Given the description of an element on the screen output the (x, y) to click on. 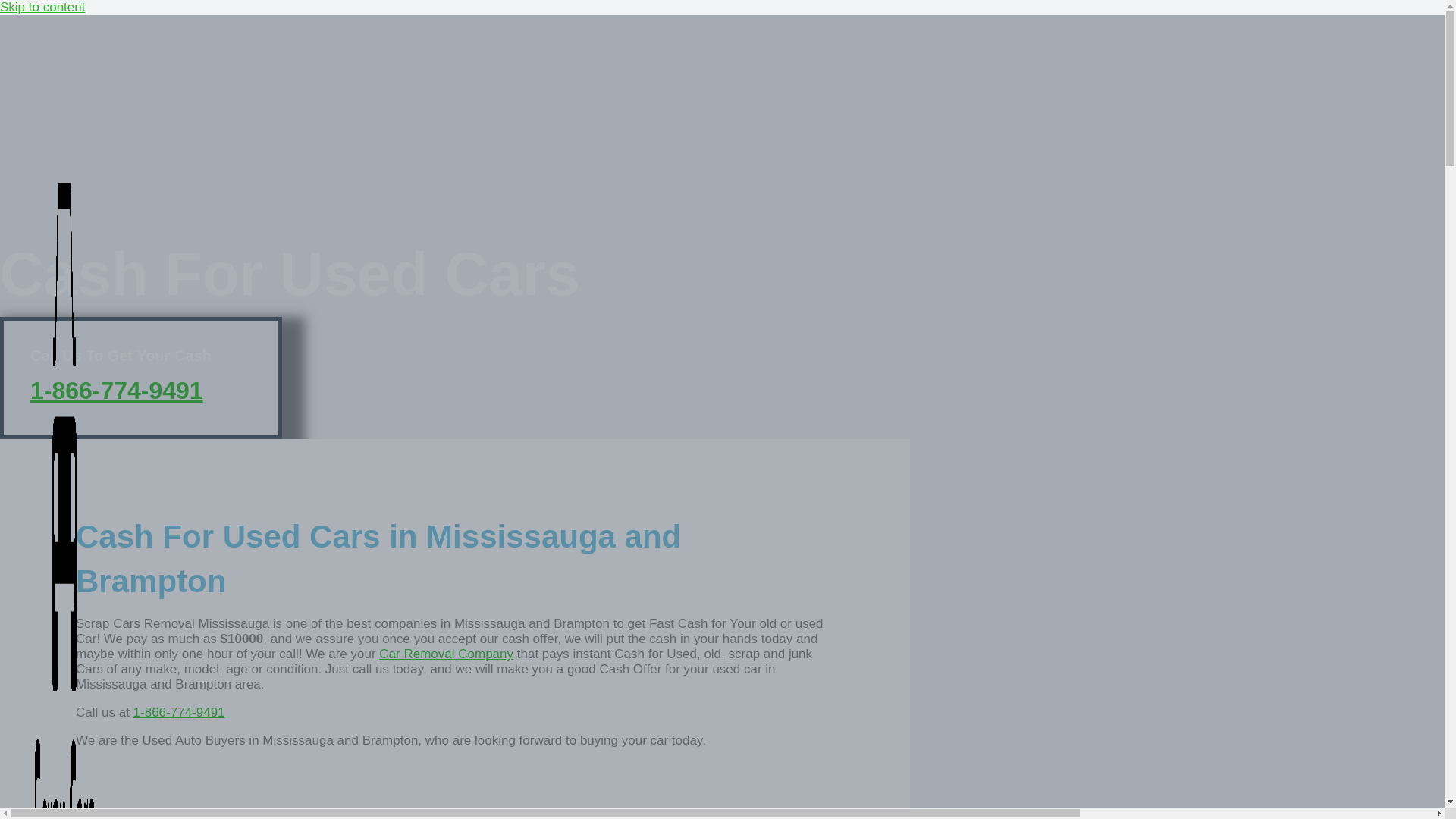
1-866-774-9491 (179, 712)
Car Removal Company (445, 653)
Skip to content (42, 7)
1-866-774-9491 (116, 390)
Skip to content (42, 7)
